Given the description of an element on the screen output the (x, y) to click on. 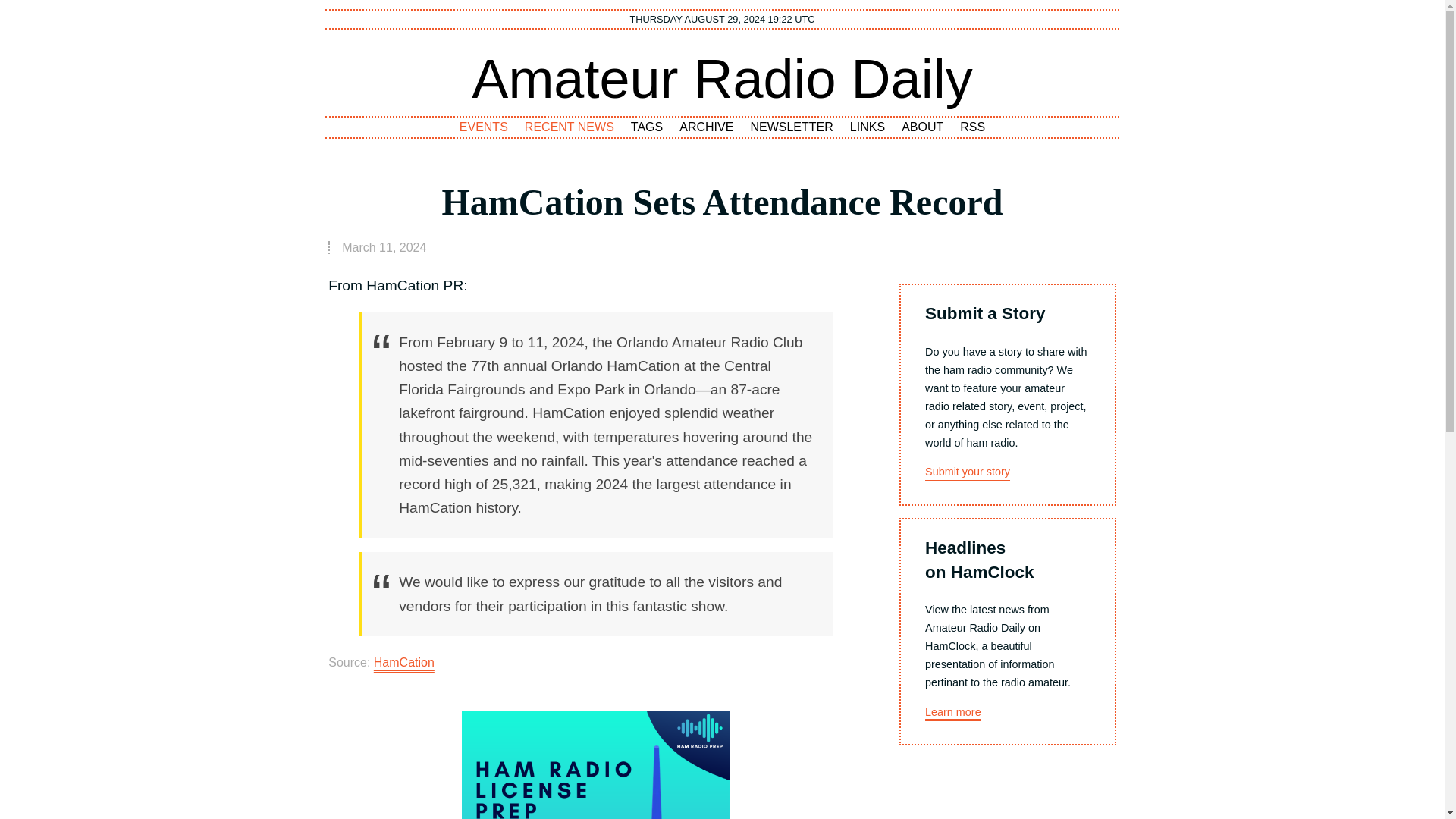
HamCation (403, 662)
NEWSLETTER (792, 126)
TAGS (646, 126)
ARCHIVE (705, 126)
Submit your story (967, 471)
About Amateur Radio Daily (922, 126)
RECENT NEWS (569, 126)
ABOUT (922, 126)
RSS feed (972, 126)
Posts grouped by tag (646, 126)
